Given the description of an element on the screen output the (x, y) to click on. 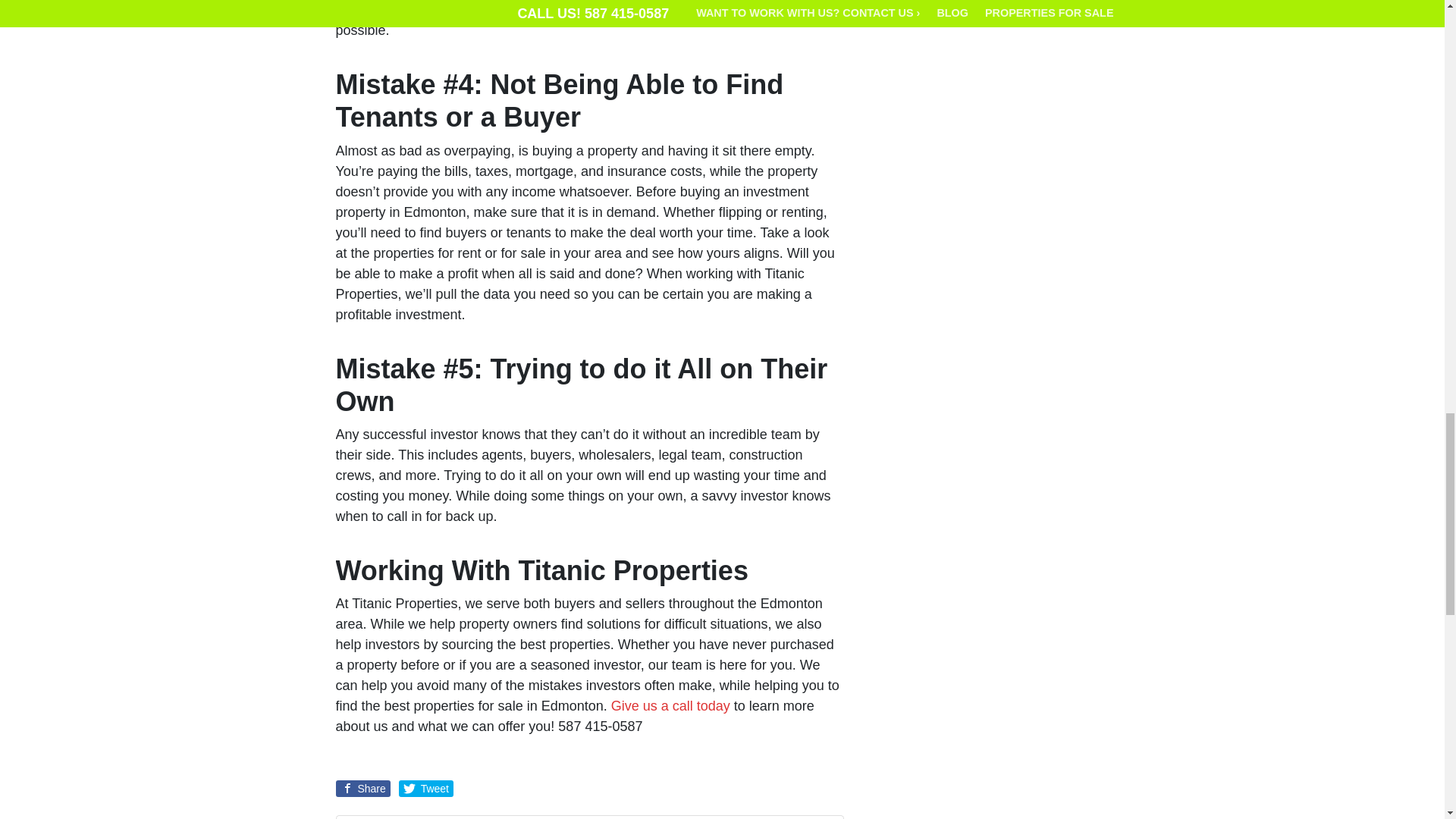
Share on Twitter (425, 788)
Share on Facebook (362, 788)
Tweet (425, 788)
Give us a call today (670, 705)
Share (362, 788)
